Given the description of an element on the screen output the (x, y) to click on. 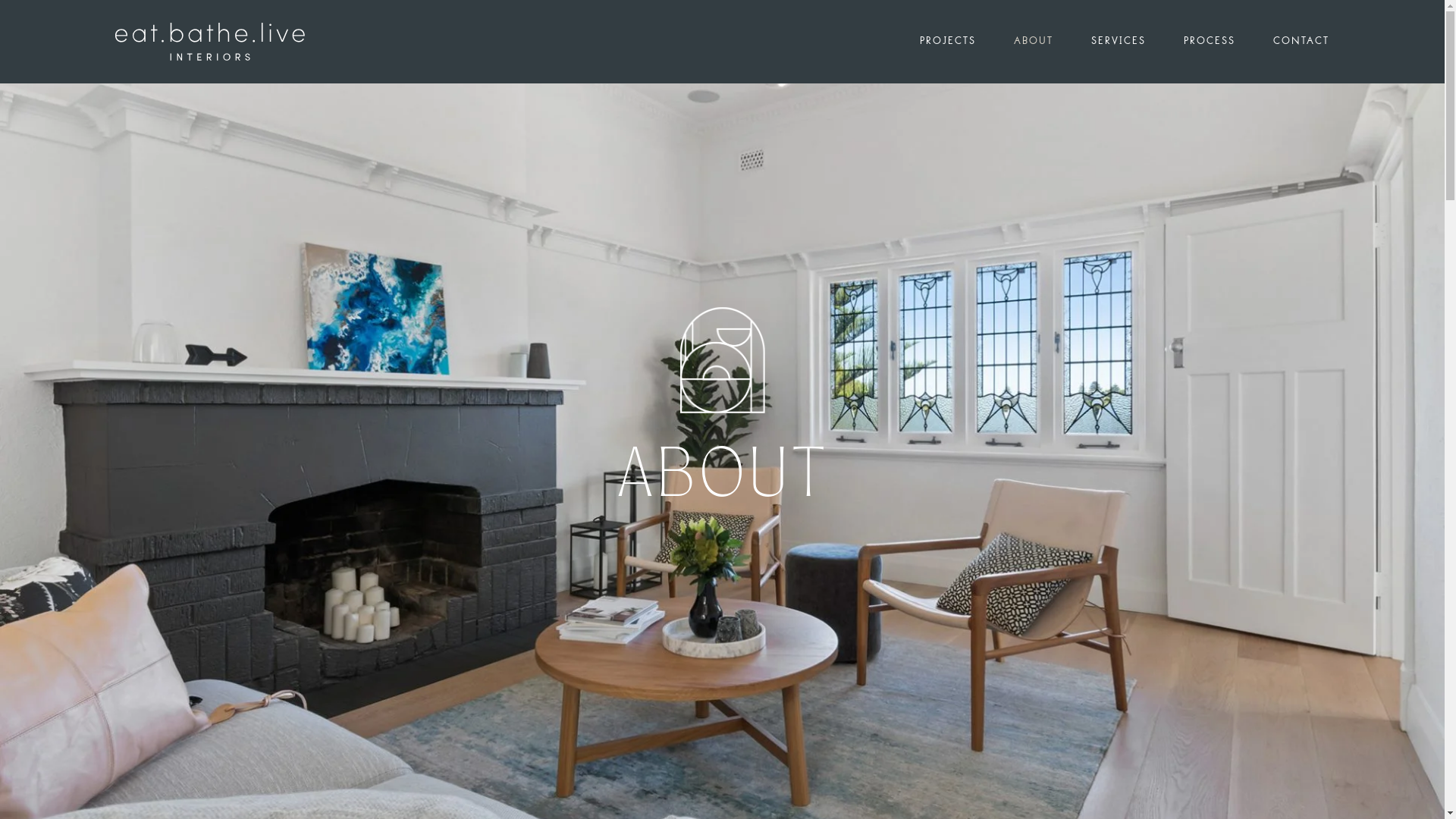
eat.bathe.live Element type: hover (209, 41)
PROJECTS Element type: text (966, 41)
SERVICES Element type: text (1137, 41)
PROCESS Element type: text (1228, 41)
CONTACT Element type: text (1301, 41)
ABOUT Element type: text (1052, 41)
